Given the description of an element on the screen output the (x, y) to click on. 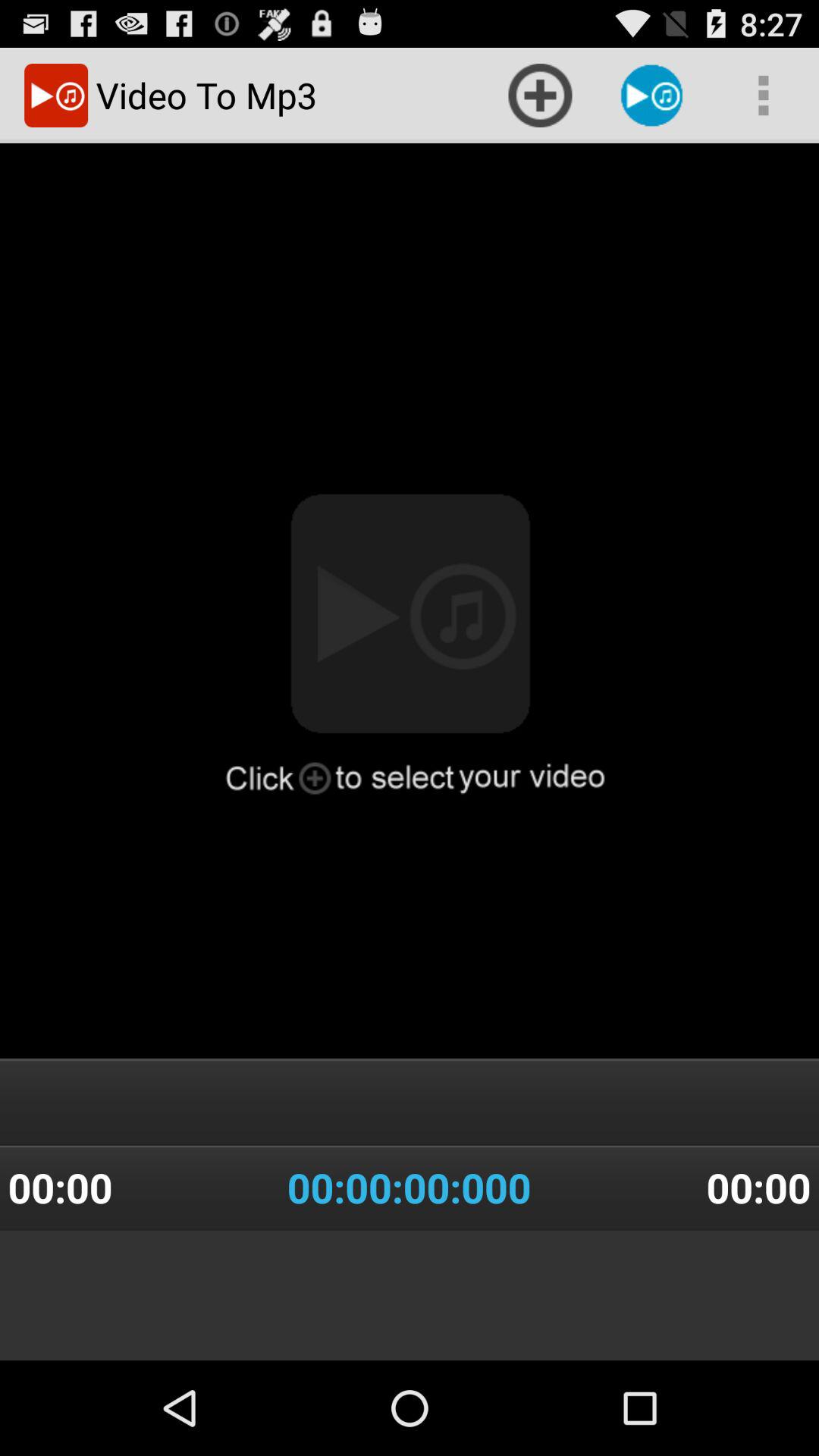
click on icon which is right to video to mp3 (540, 95)
click on symbol left to video to mp3 (55, 95)
click on the icon next to plus (651, 95)
click on the video icon on the top left (56, 95)
